Given the description of an element on the screen output the (x, y) to click on. 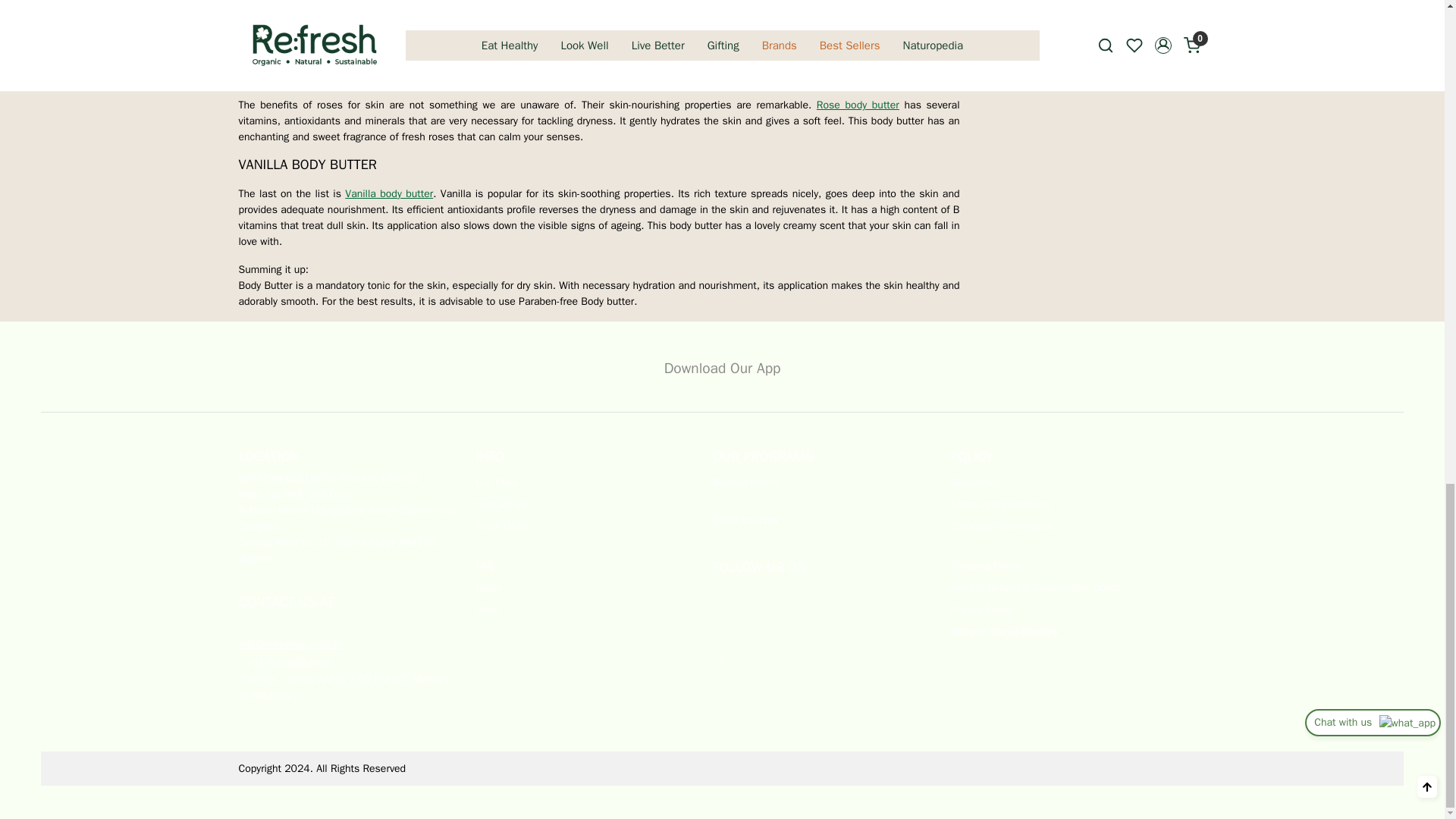
Pinterest (822, 615)
Facebook (822, 593)
YouTube (822, 659)
Instagram (822, 637)
